Given the description of an element on the screen output the (x, y) to click on. 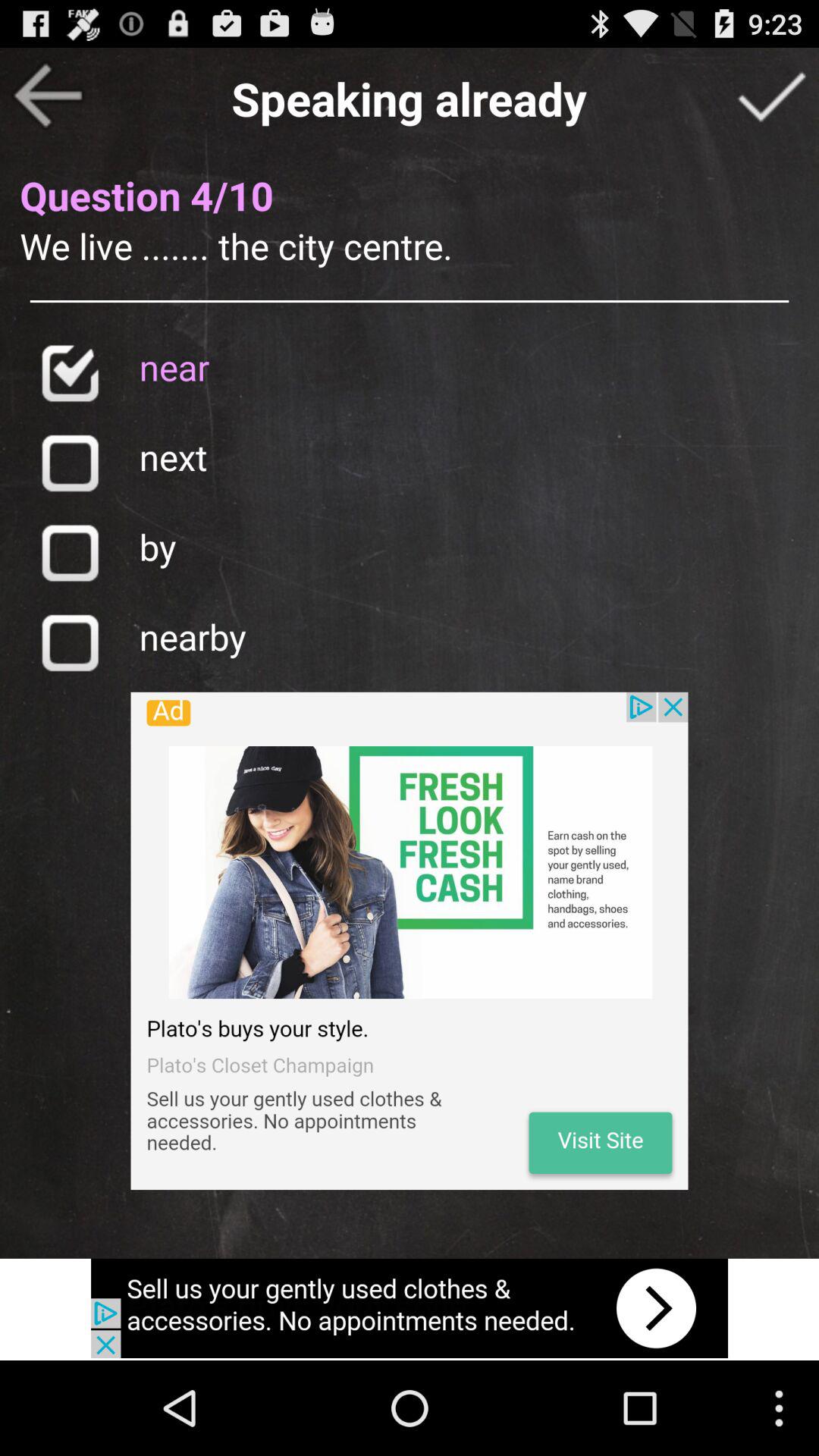
toggle by option (69, 552)
